Given the description of an element on the screen output the (x, y) to click on. 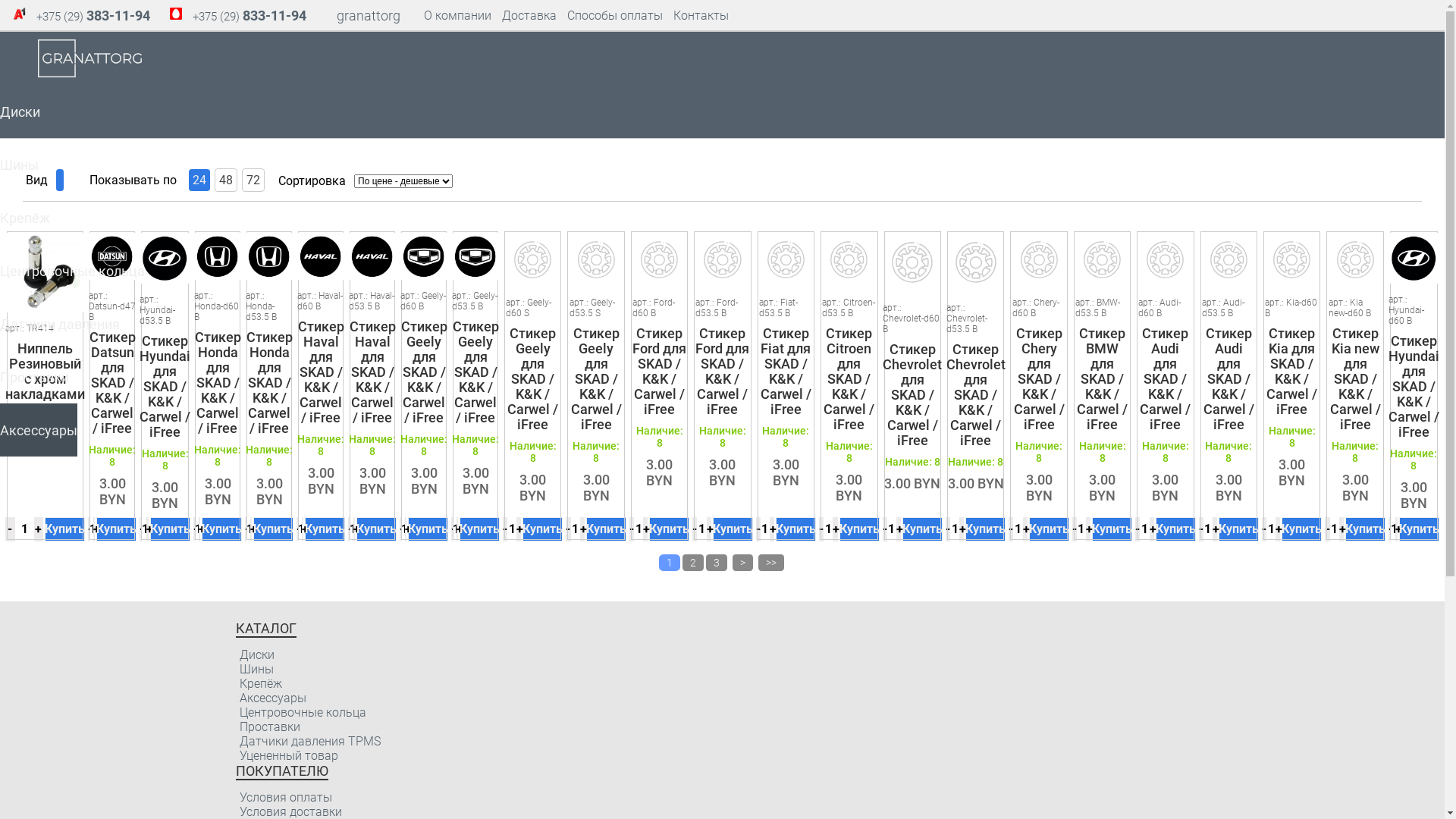
72 Element type: text (252, 179)
granattorg Element type: text (368, 16)
+375 (29) 833-11-94 Element type: text (249, 16)
24 Element type: text (199, 180)
48 Element type: text (225, 179)
+375 (29) 383-11-94 Element type: text (93, 16)
